Given the description of an element on the screen output the (x, y) to click on. 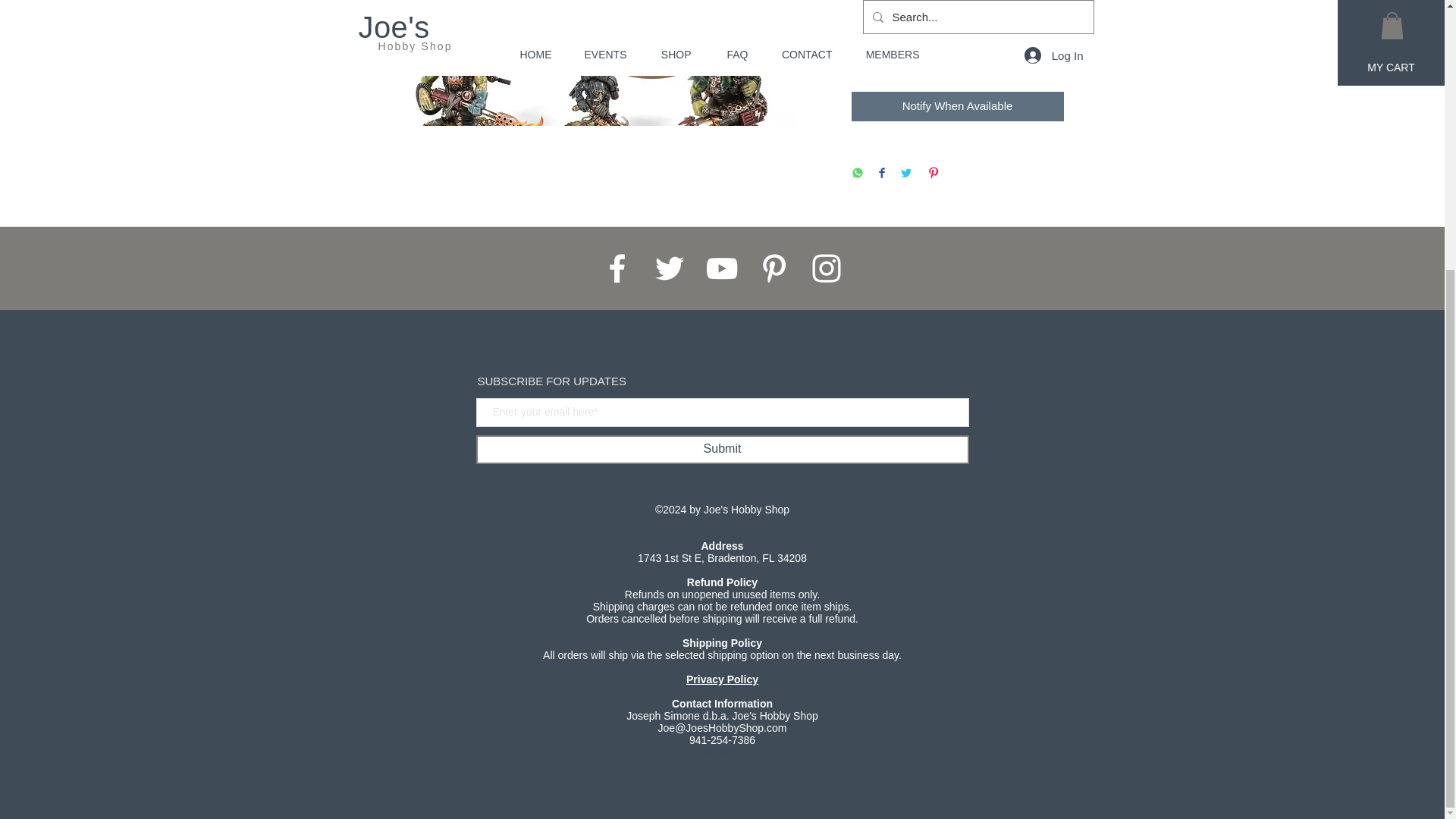
1 (881, 26)
Submit (722, 449)
Notify When Available (956, 106)
Privacy Policy (721, 679)
